Given the description of an element on the screen output the (x, y) to click on. 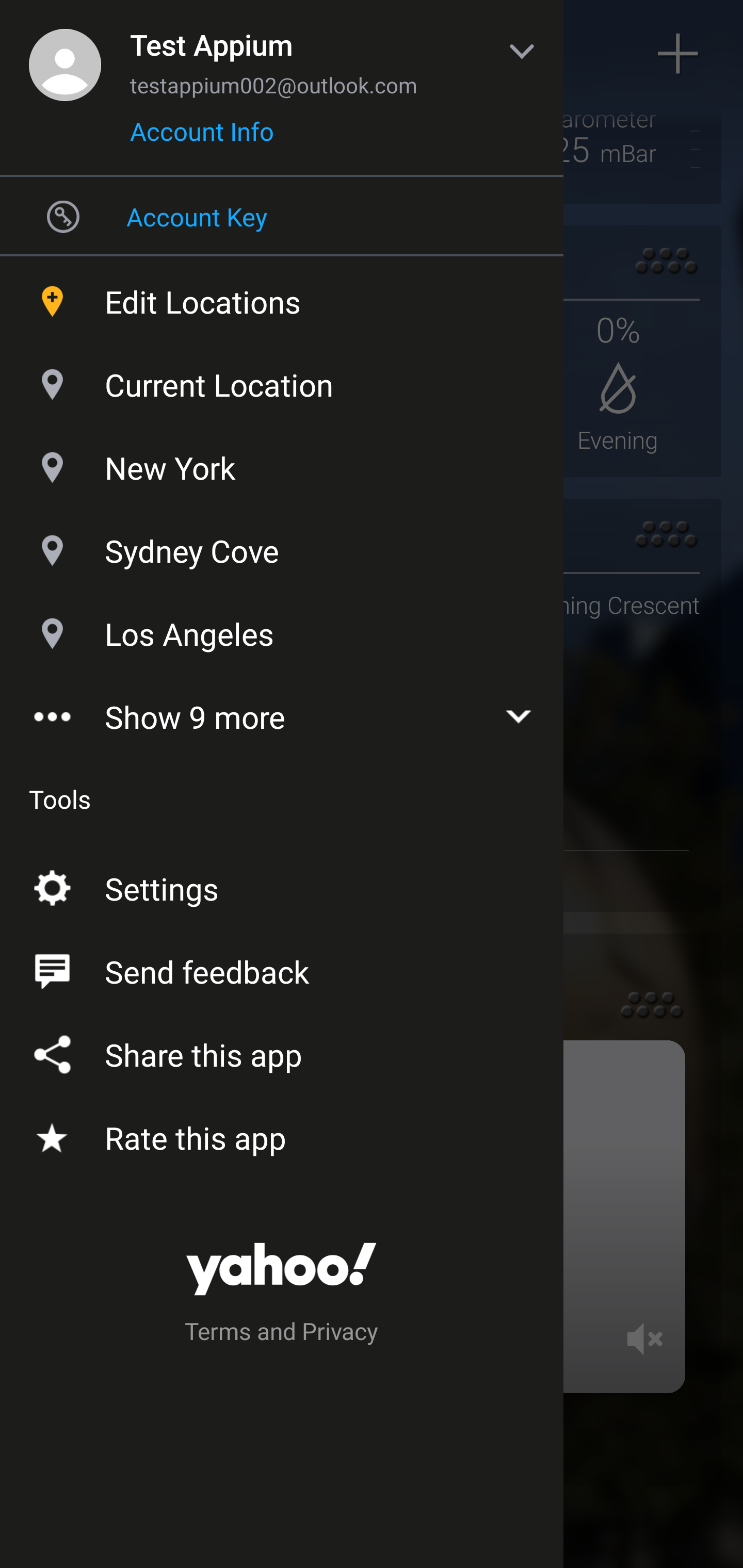
Sidebar (64, 54)
Account Info (202, 137)
Account Key (281, 216)
Edit Locations (281, 296)
Current Location (281, 379)
New York (281, 462)
Sydney Cove (281, 546)
Los Angeles (281, 629)
Settings (281, 884)
Send feedback (281, 967)
Share this app (281, 1050)
Terms and Privacy Terms and privacy button (281, 1334)
